Given the description of an element on the screen output the (x, y) to click on. 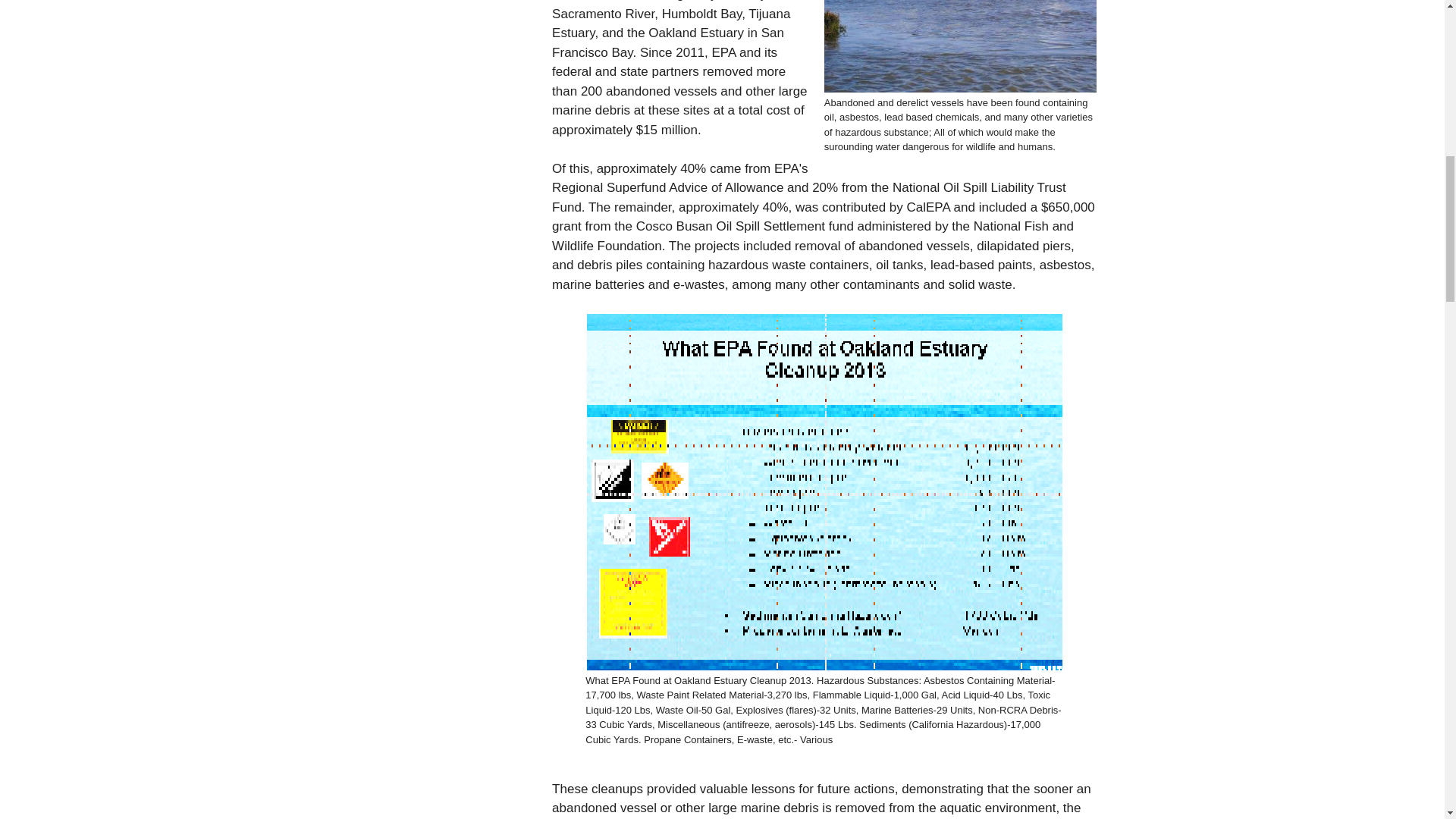
Click to enlarge (960, 46)
